Given the description of an element on the screen output the (x, y) to click on. 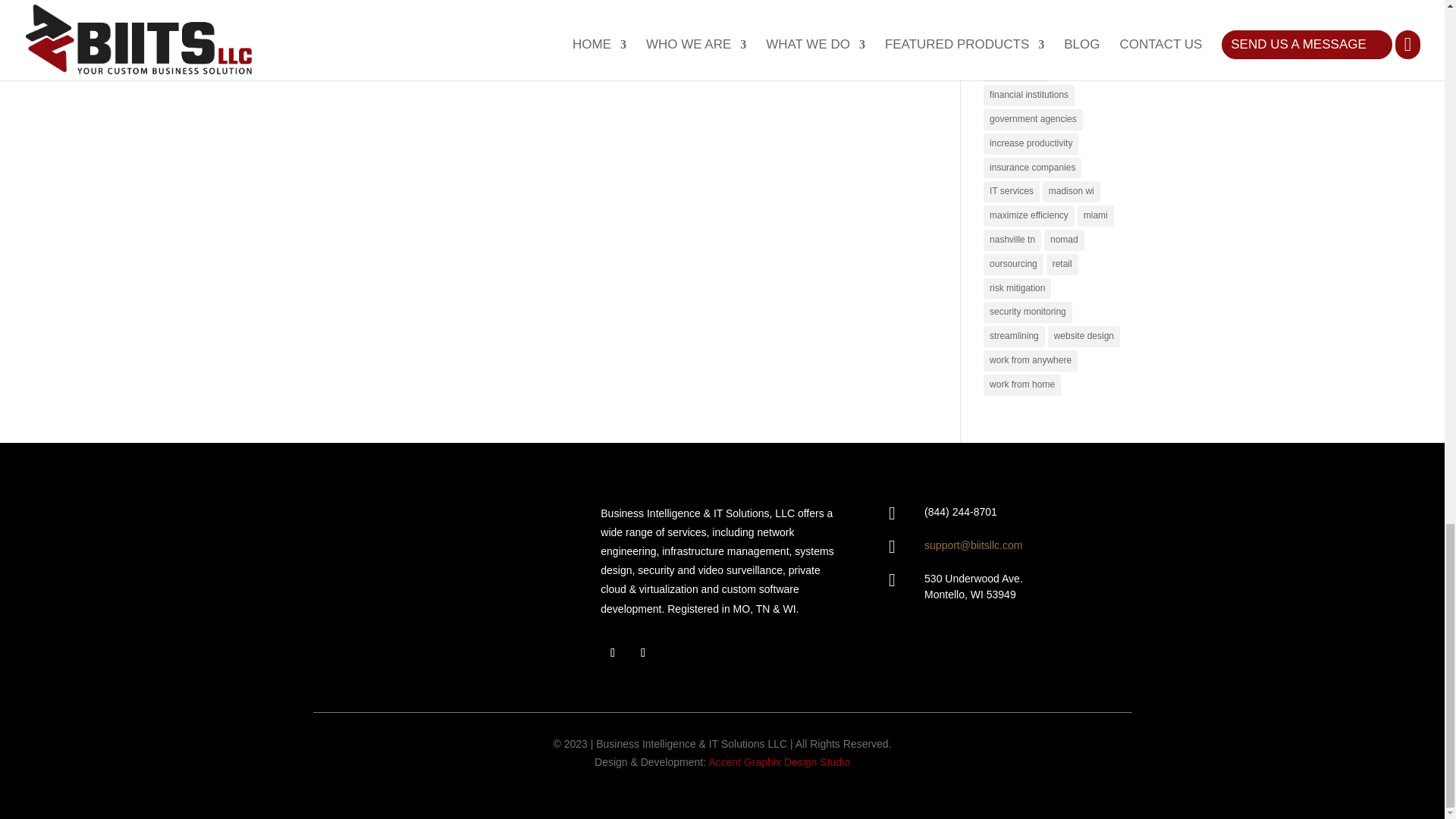
Follow on Facebook (611, 652)
Follow on LinkedIn (642, 652)
biits white logo (433, 574)
